Given the description of an element on the screen output the (x, y) to click on. 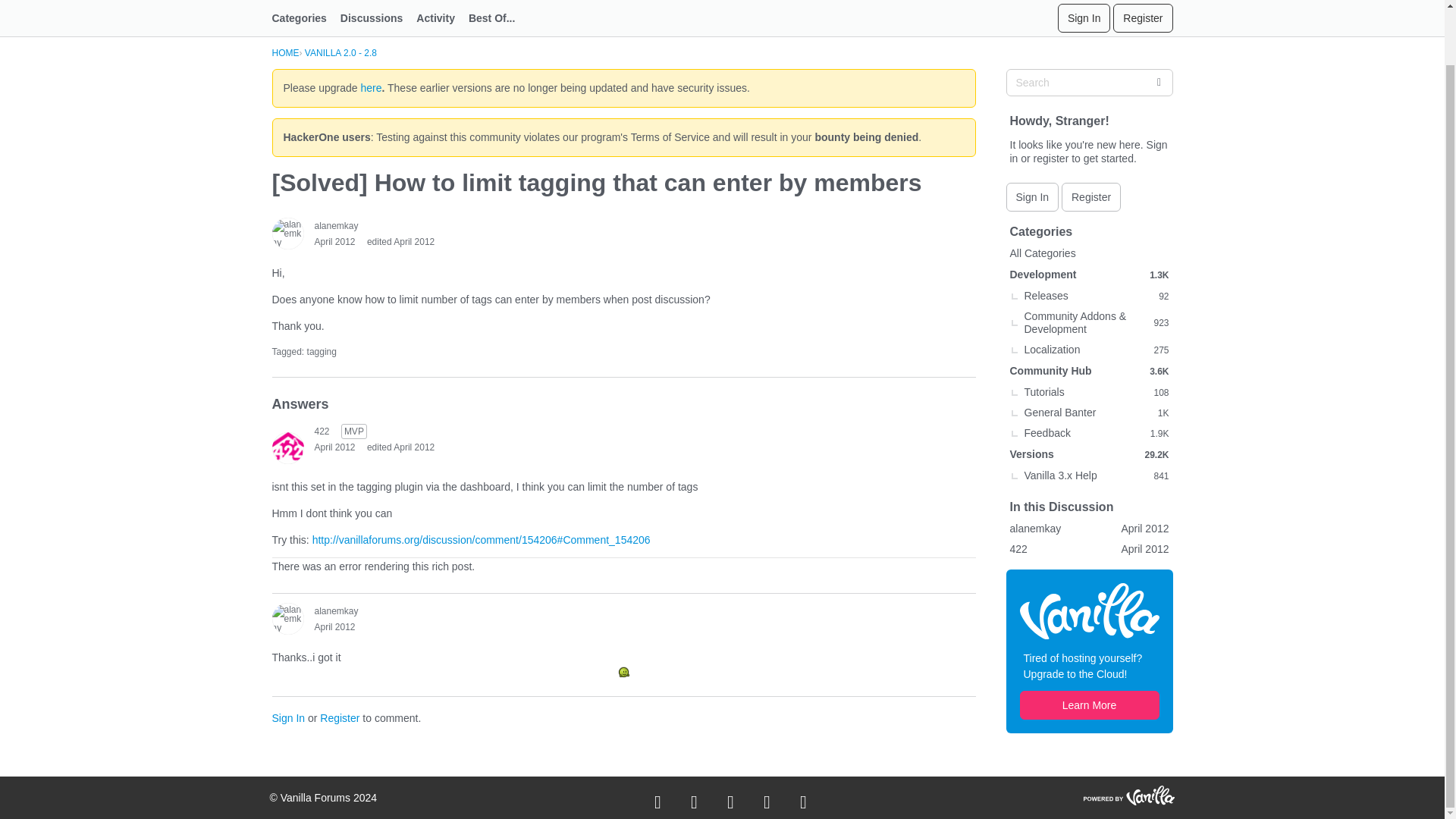
alanemkay (286, 233)
HOME (284, 52)
Vanilla (1088, 610)
Categories (304, 8)
April 2012 (334, 446)
275 discussions (1161, 349)
923 discussions (1161, 323)
alanemkay (286, 617)
1,290 discussions (1159, 274)
Enter your search term. (1089, 82)
